Given the description of an element on the screen output the (x, y) to click on. 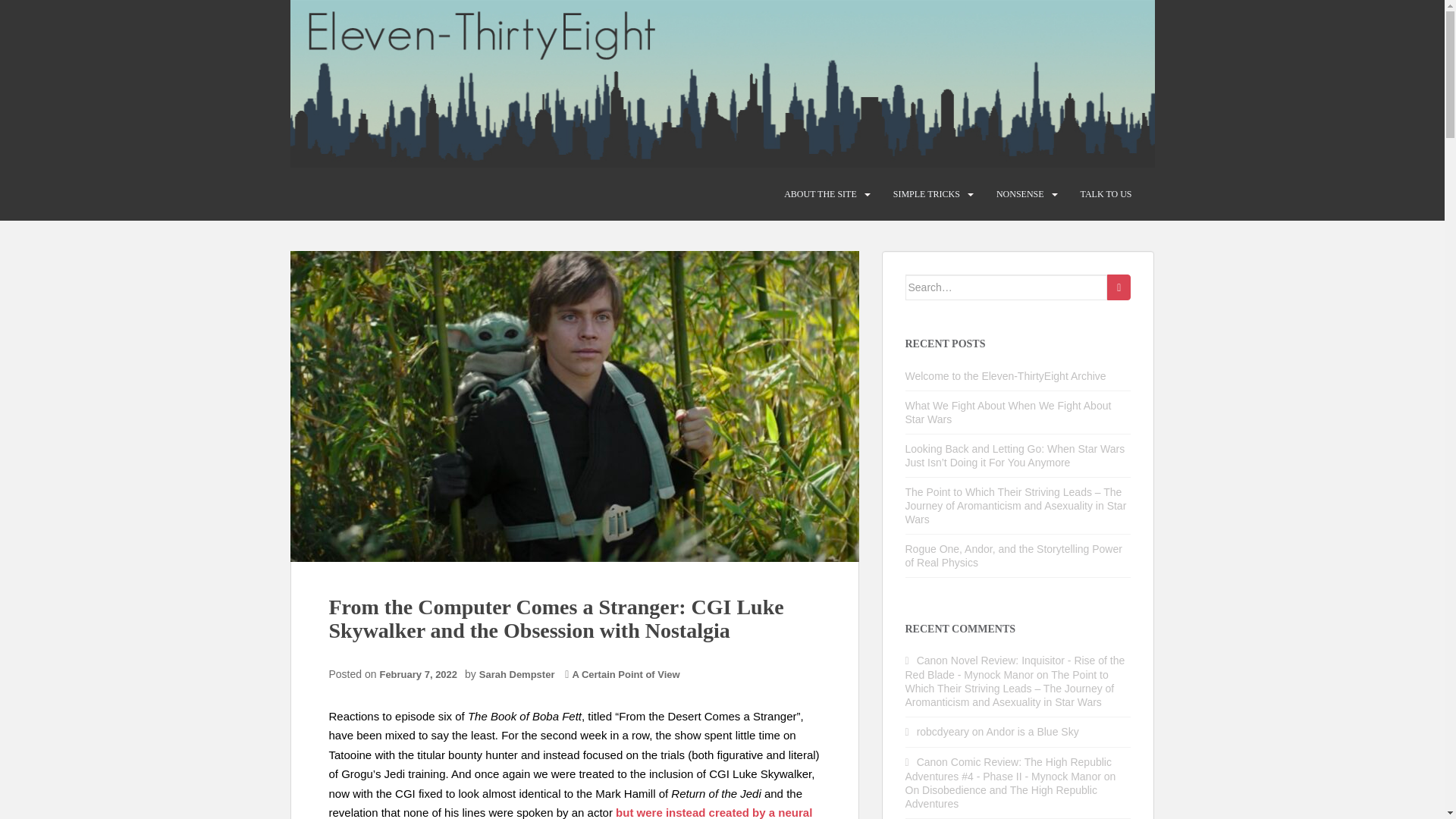
Sarah Dempster (516, 674)
Search (1118, 287)
Posts by Sarah Dempster (516, 674)
ABOUT THE SITE (820, 194)
NONSENSE (1019, 194)
A Certain Point of View (625, 674)
February 7, 2022 (421, 674)
Welcome to the Eleven-ThirtyEight Archive (1005, 376)
8:00 am (421, 674)
TALK TO US (1106, 194)
